Given the description of an element on the screen output the (x, y) to click on. 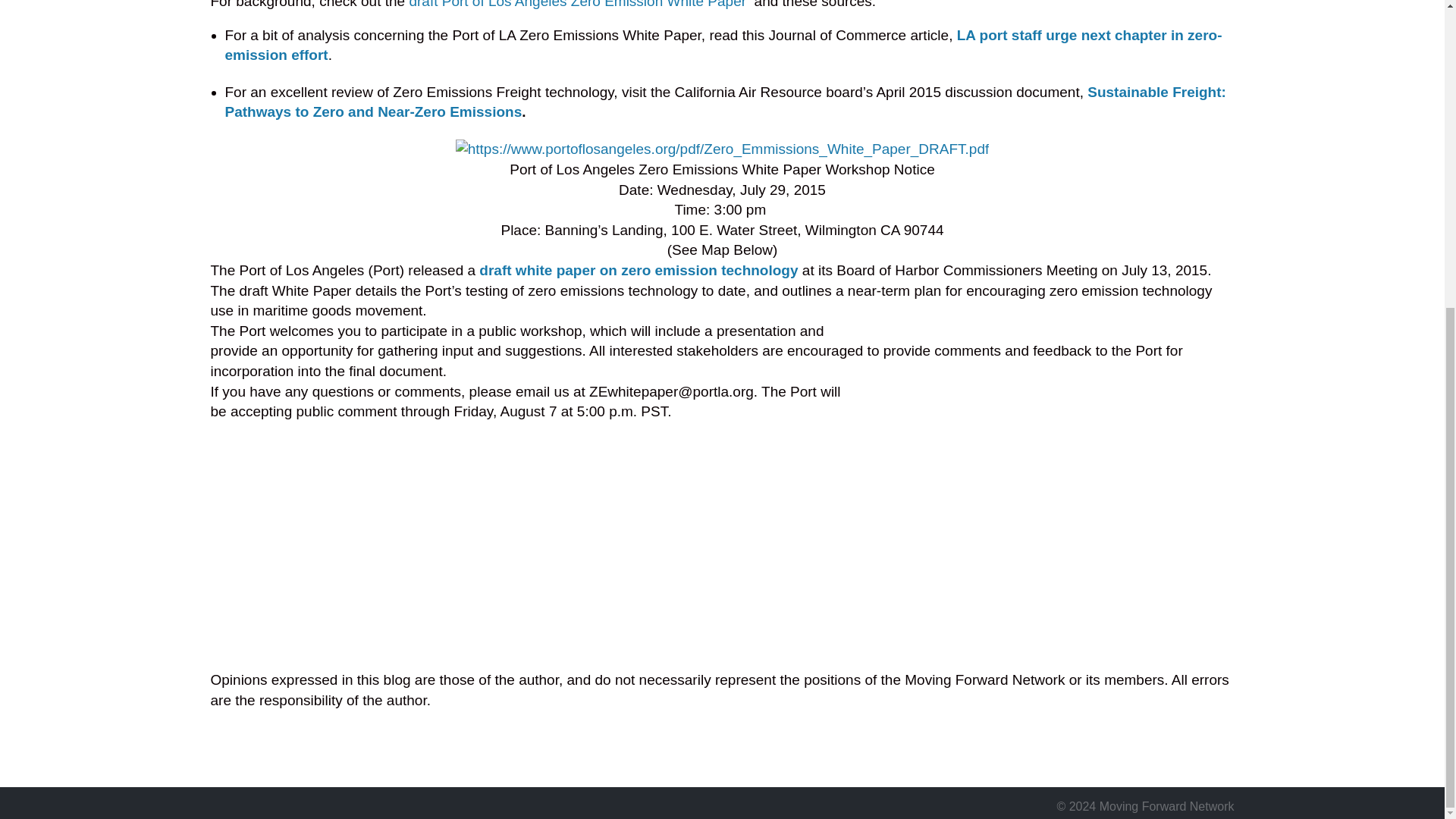
LA port staff urge next chapter in zero-emission effort (722, 45)
draft Port of Los Angeles Zero Emission White Paper (579, 4)
draft white paper on zero emission technology (638, 270)
